Given the description of an element on the screen output the (x, y) to click on. 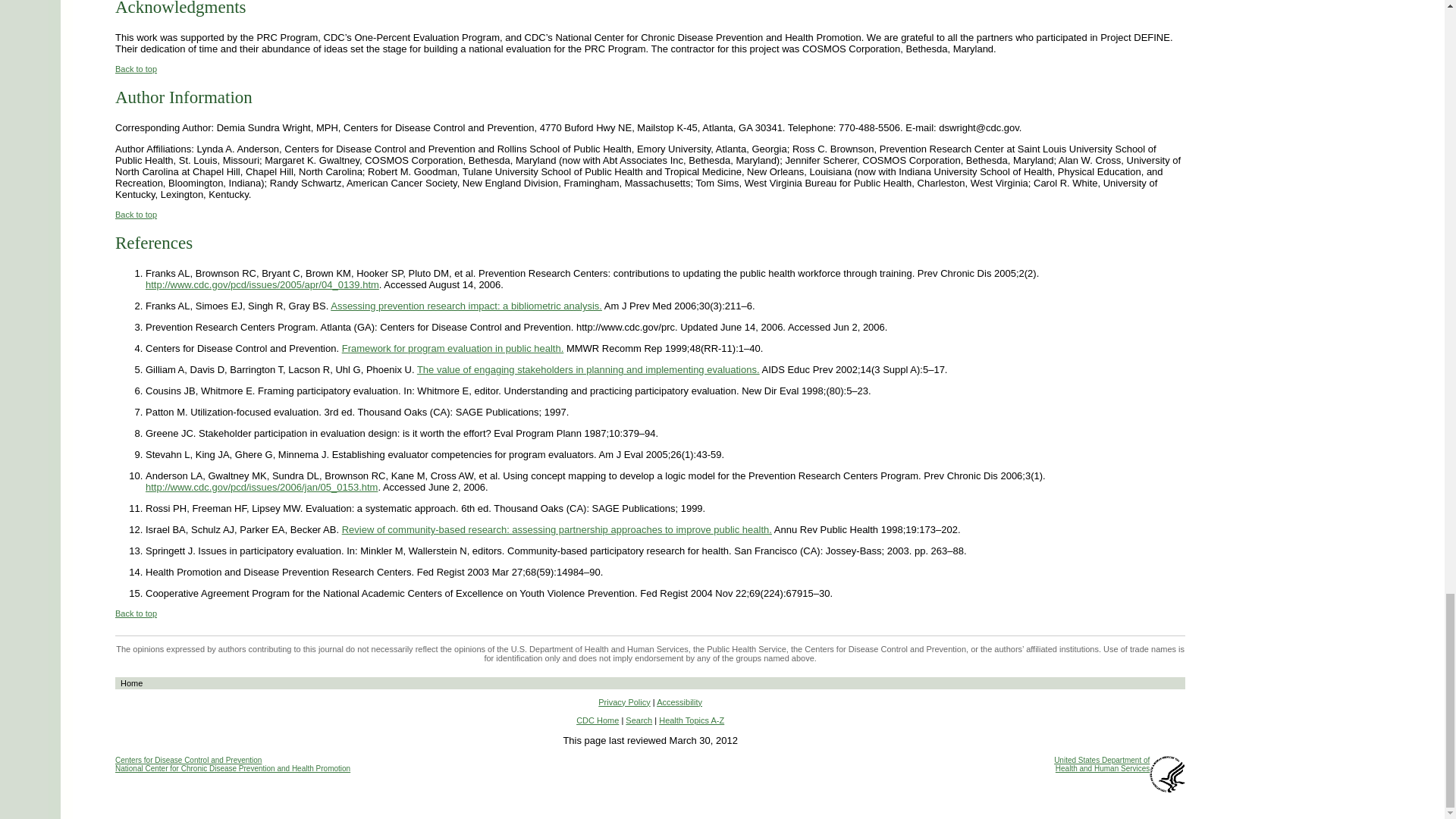
View article (261, 284)
See PubMed article abstract (588, 369)
See PubMed article abstract (556, 529)
See PubMed article abstract (466, 306)
See PubMed article abstract (453, 348)
View article (261, 487)
